Given the description of an element on the screen output the (x, y) to click on. 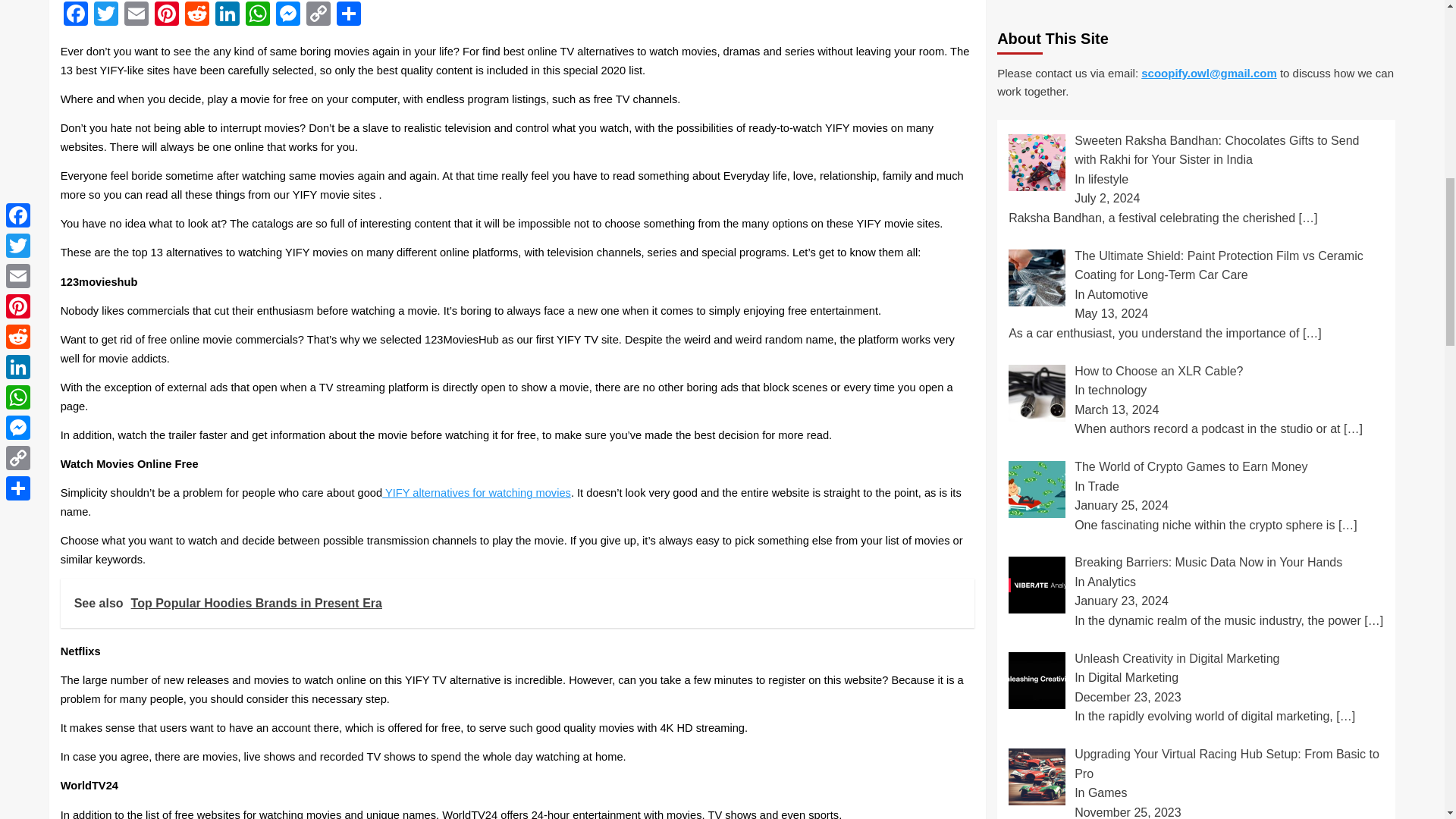
Twitter (105, 15)
Pinterest (166, 15)
Reddit (197, 15)
Facebook (75, 15)
Pinterest (166, 15)
Reddit (197, 15)
Email (135, 15)
Facebook (75, 15)
Messenger (287, 15)
Email (135, 15)
LinkedIn (227, 15)
Copy Link (317, 15)
Twitter (105, 15)
LinkedIn (227, 15)
WhatsApp (258, 15)
